Given the description of an element on the screen output the (x, y) to click on. 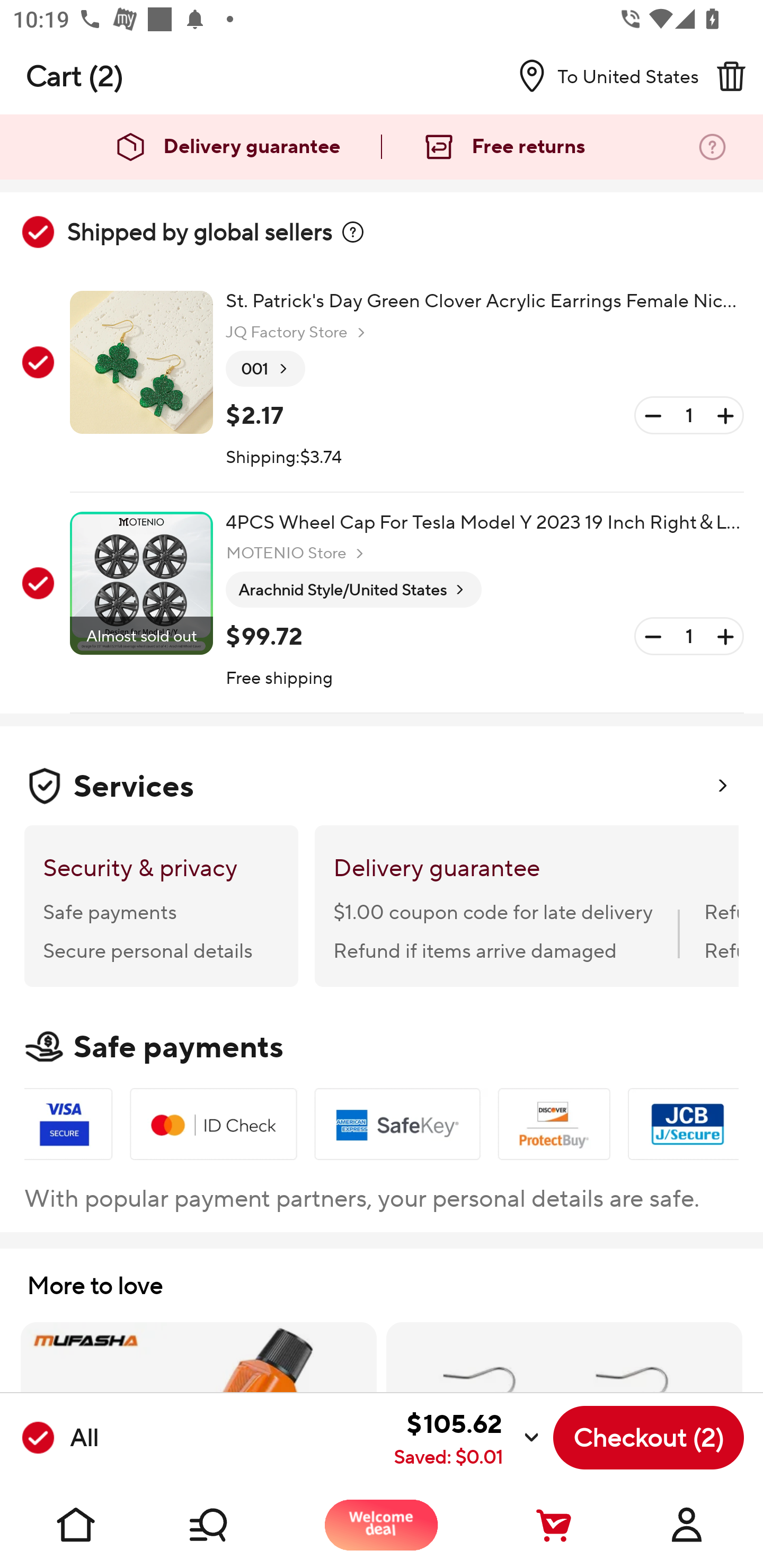
 To United States (601, 75)
 (730, 75)
 (352, 231)
JQ Factory Store (297, 333)
001 (265, 369)
1 (688, 415)
Shipping:$3.74 (283, 457)
MOTENIO Store (296, 553)
Arachnid Style/United States (353, 590)
1 (688, 636)
Free shipping (279, 678)
$_105.62 Saved: $0.01  (324, 1437)
Checkout (2) (648, 1437)
Home (76, 1524)
Shop (228, 1524)
Account (686, 1524)
